Given the description of an element on the screen output the (x, y) to click on. 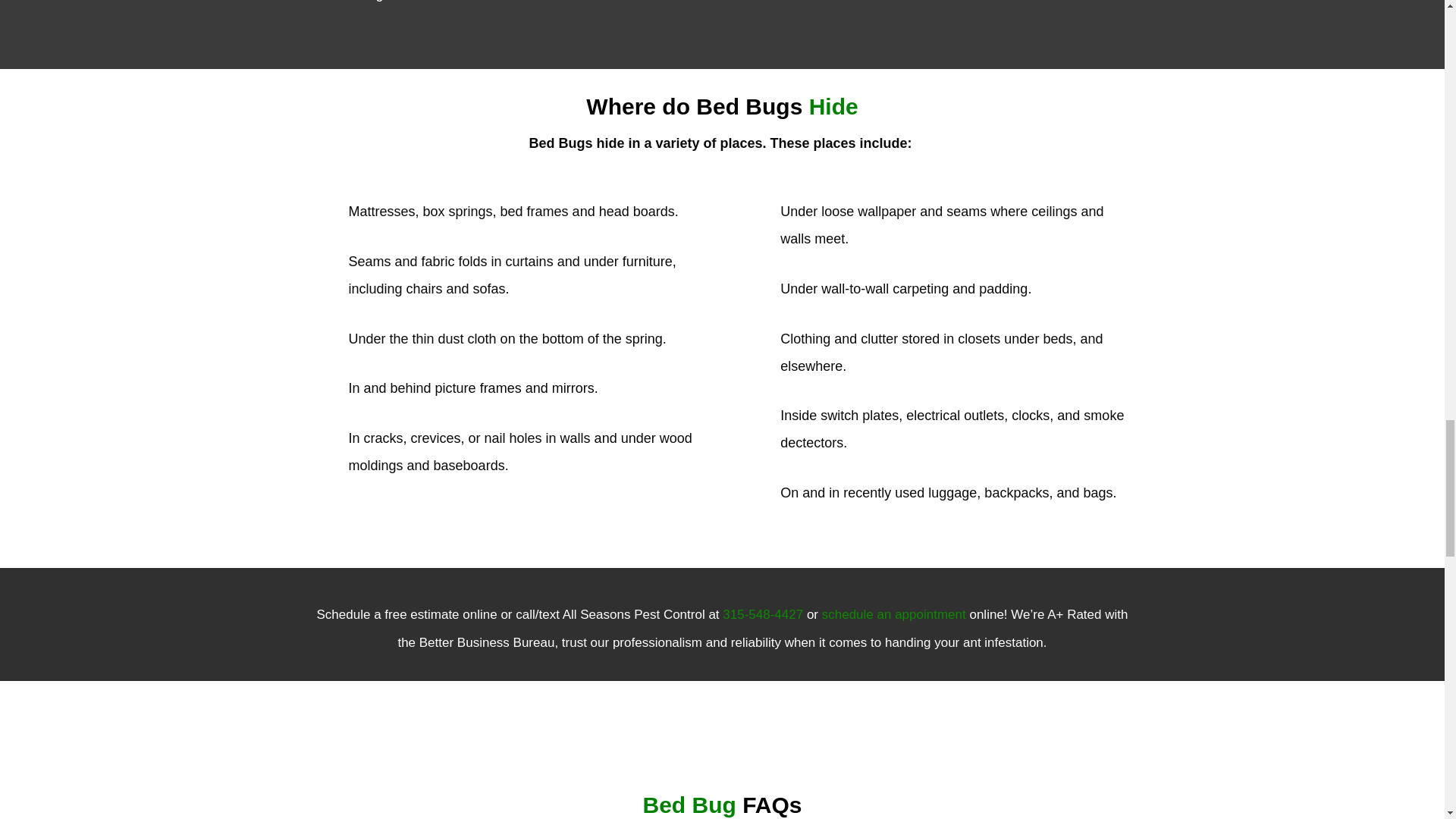
315-548-4427 (762, 614)
